Given the description of an element on the screen output the (x, y) to click on. 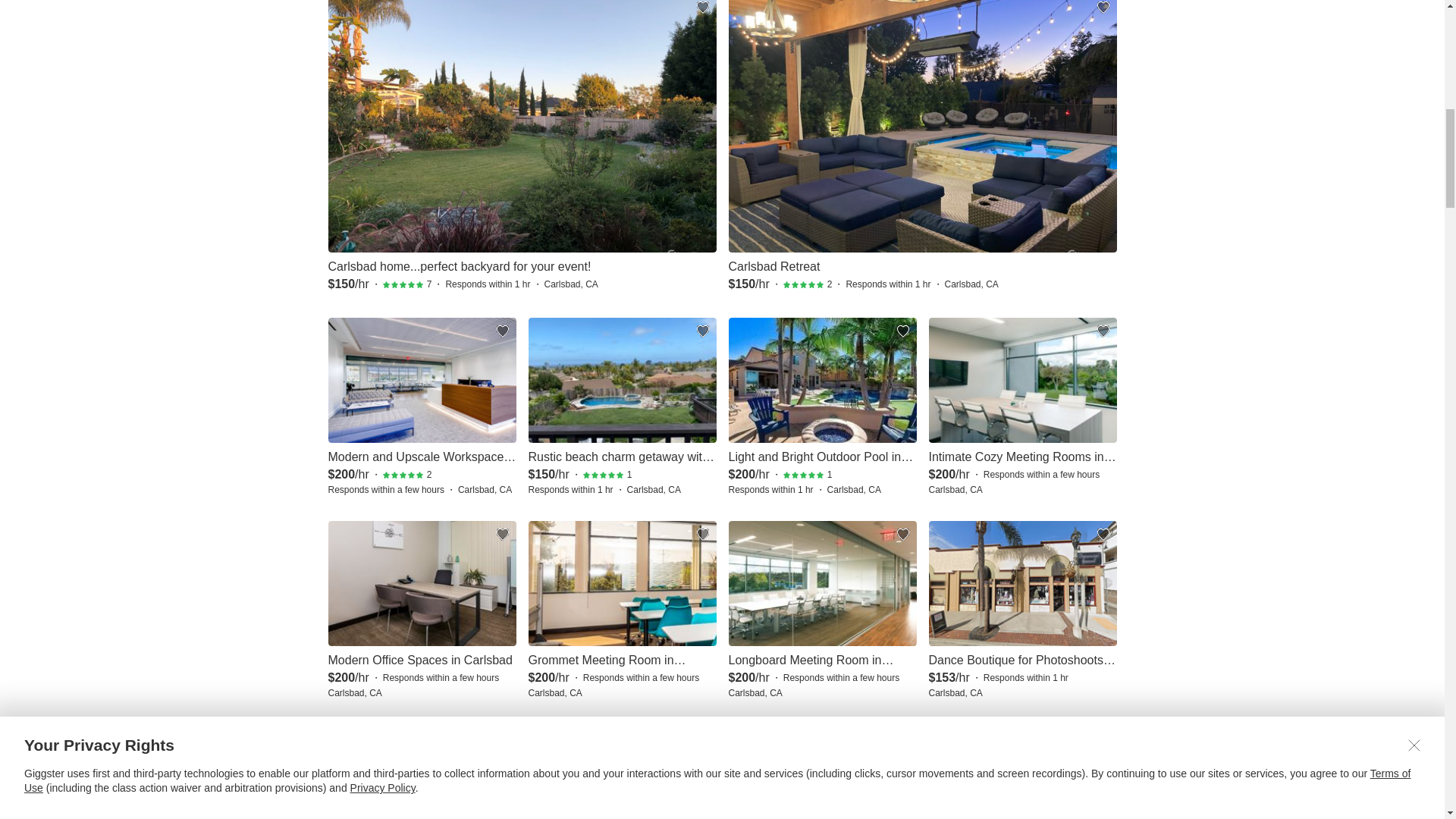
5 (402, 474)
5 (803, 284)
5 (402, 284)
5 (803, 474)
5 (603, 474)
